Given the description of an element on the screen output the (x, y) to click on. 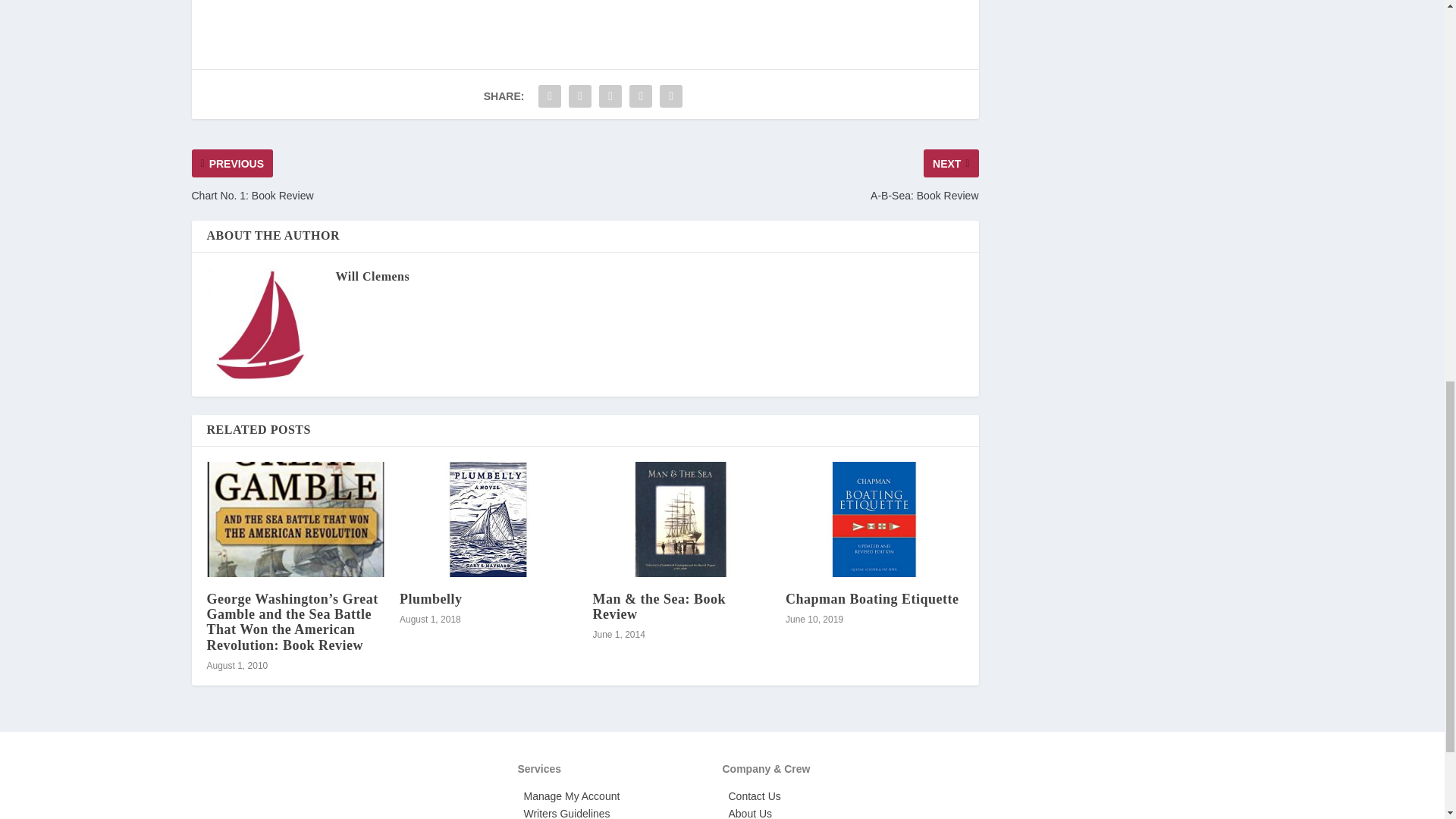
Share "I Left the Navy: Book Review" via Pinterest (610, 96)
Share "I Left the Navy: Book Review" via Email (641, 96)
Share "I Left the Navy: Book Review" via Print (670, 96)
View all posts by Will Clemens (371, 276)
Share "I Left the Navy: Book Review" via Facebook (549, 96)
Plumbelly (488, 519)
Share "I Left the Navy: Book Review" via Twitter (579, 96)
Chapman Boating Etiquette (874, 519)
